Given the description of an element on the screen output the (x, y) to click on. 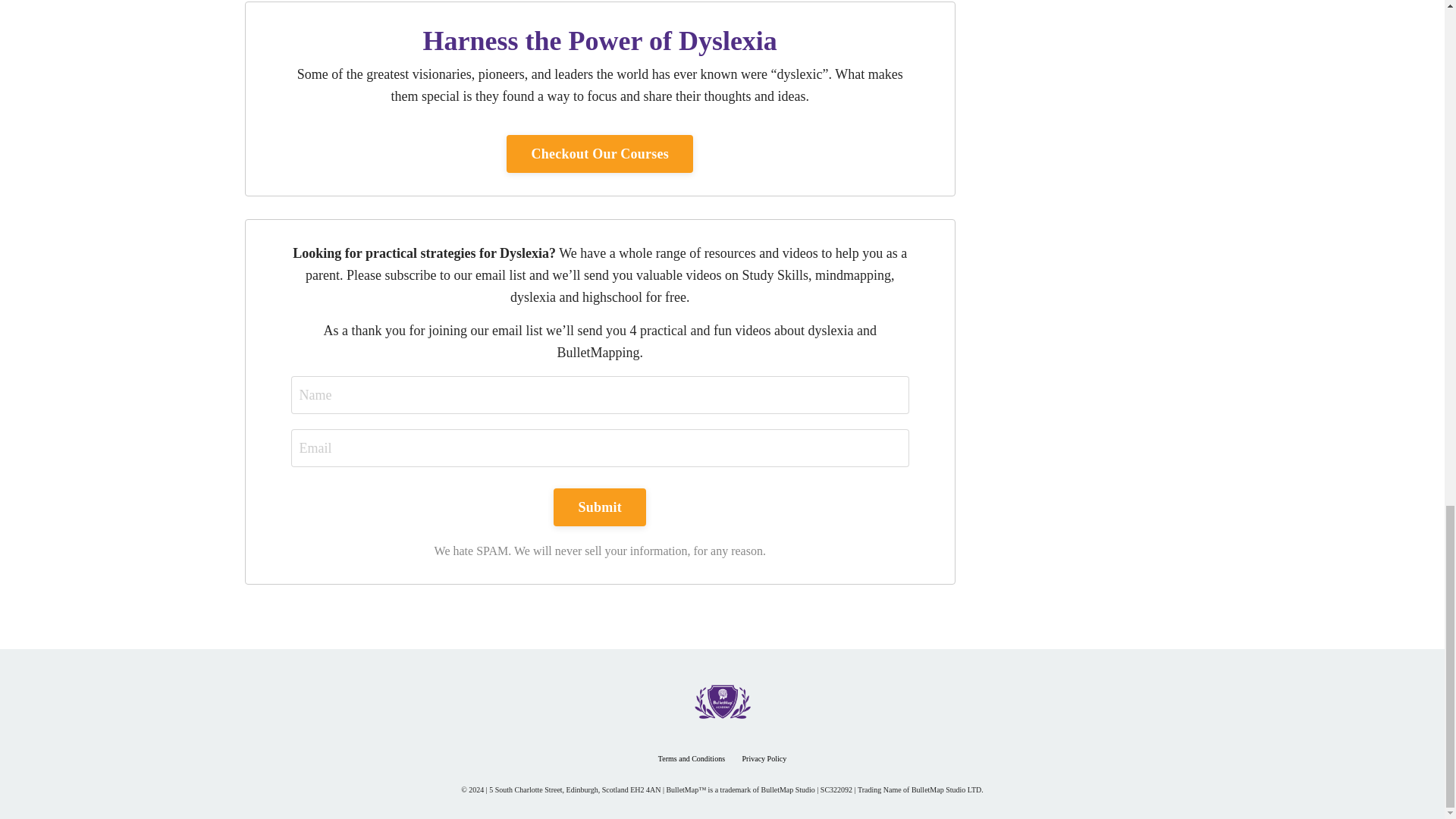
Checkout Our Courses (599, 153)
Submit (599, 507)
Submit (599, 507)
